Given the description of an element on the screen output the (x, y) to click on. 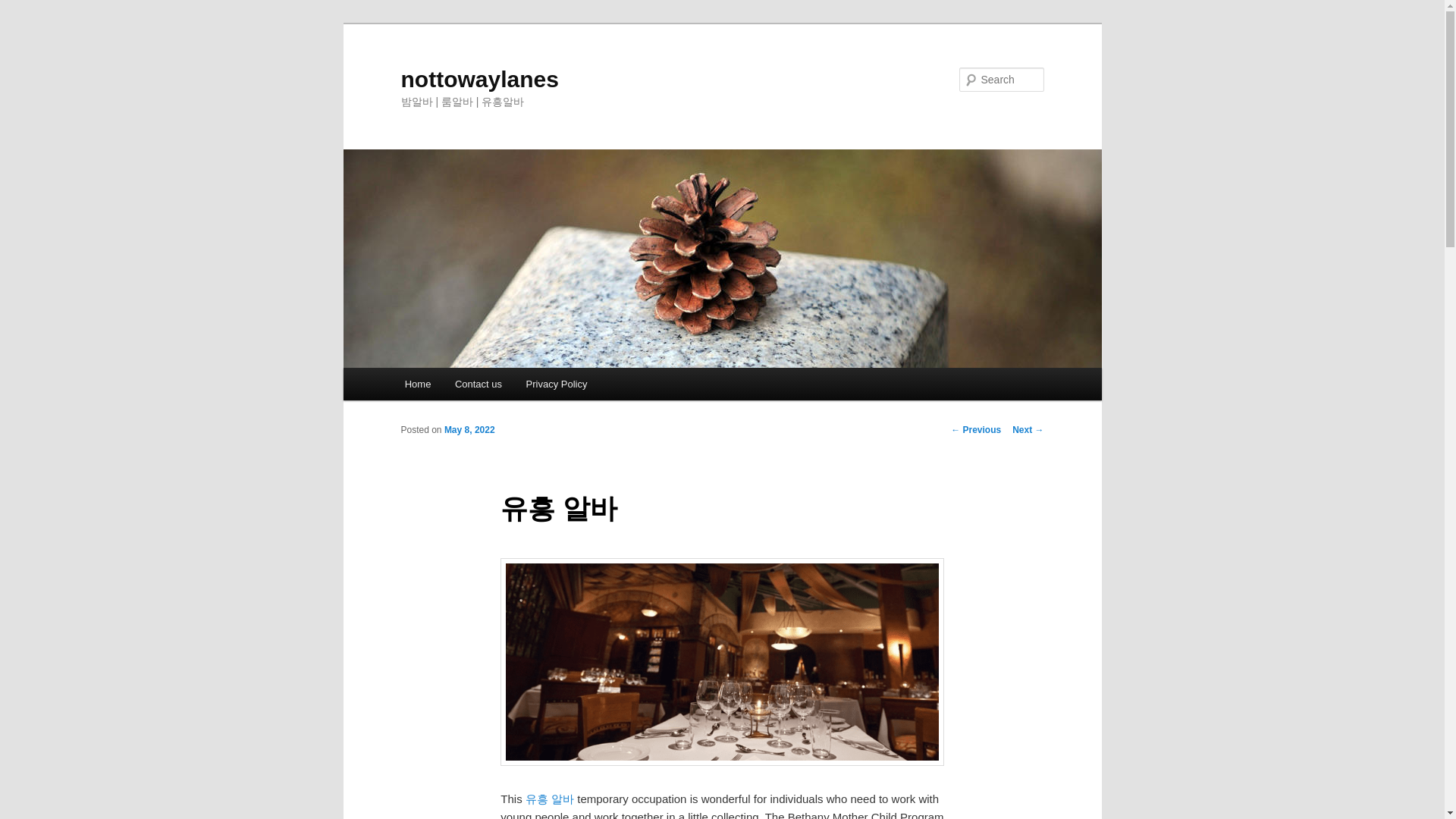
Privacy Policy (555, 383)
Home (417, 383)
Contact us (477, 383)
4:37 pm (469, 429)
Search (24, 8)
nottowaylanes (478, 78)
May 8, 2022 (469, 429)
